Given the description of an element on the screen output the (x, y) to click on. 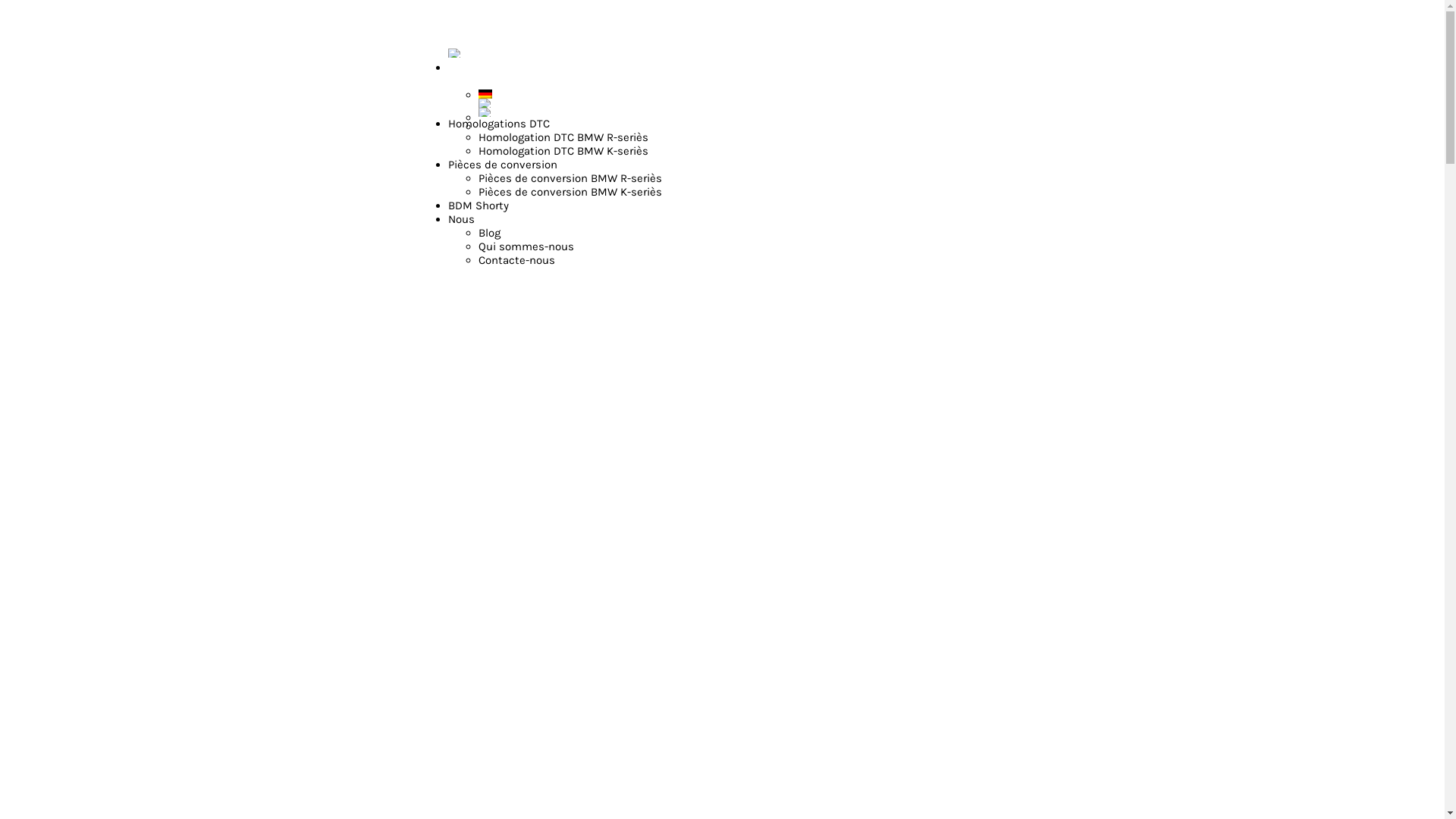
Qui sommes-nous Element type: text (526, 246)
Nous Element type: text (461, 219)
BDM Shorty Element type: text (478, 205)
Homologations DTC Element type: text (498, 123)
Contacte-nous Element type: text (516, 259)
Blog Element type: text (489, 232)
